Given the description of an element on the screen output the (x, y) to click on. 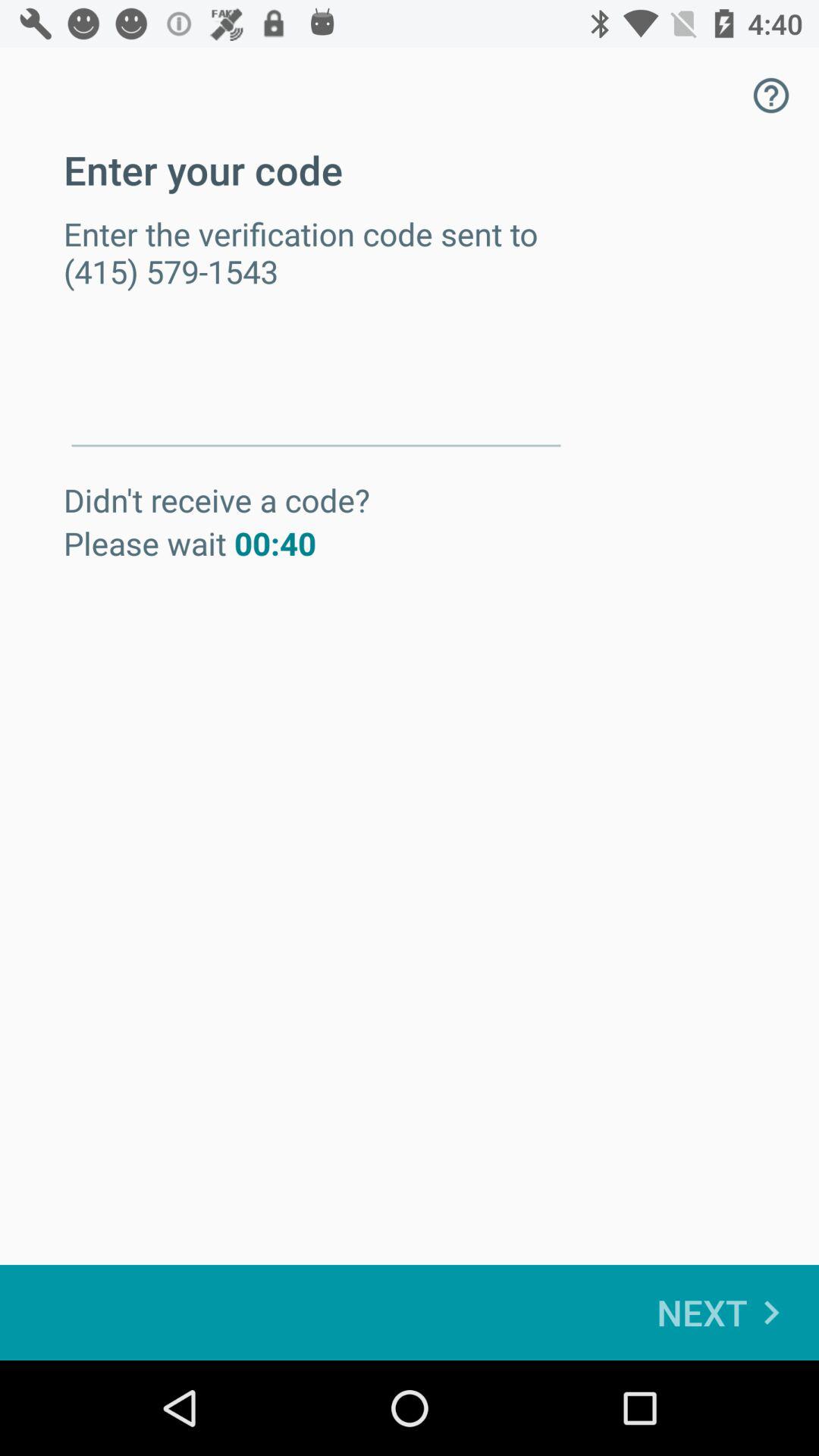
open next icon (726, 1312)
